Given the description of an element on the screen output the (x, y) to click on. 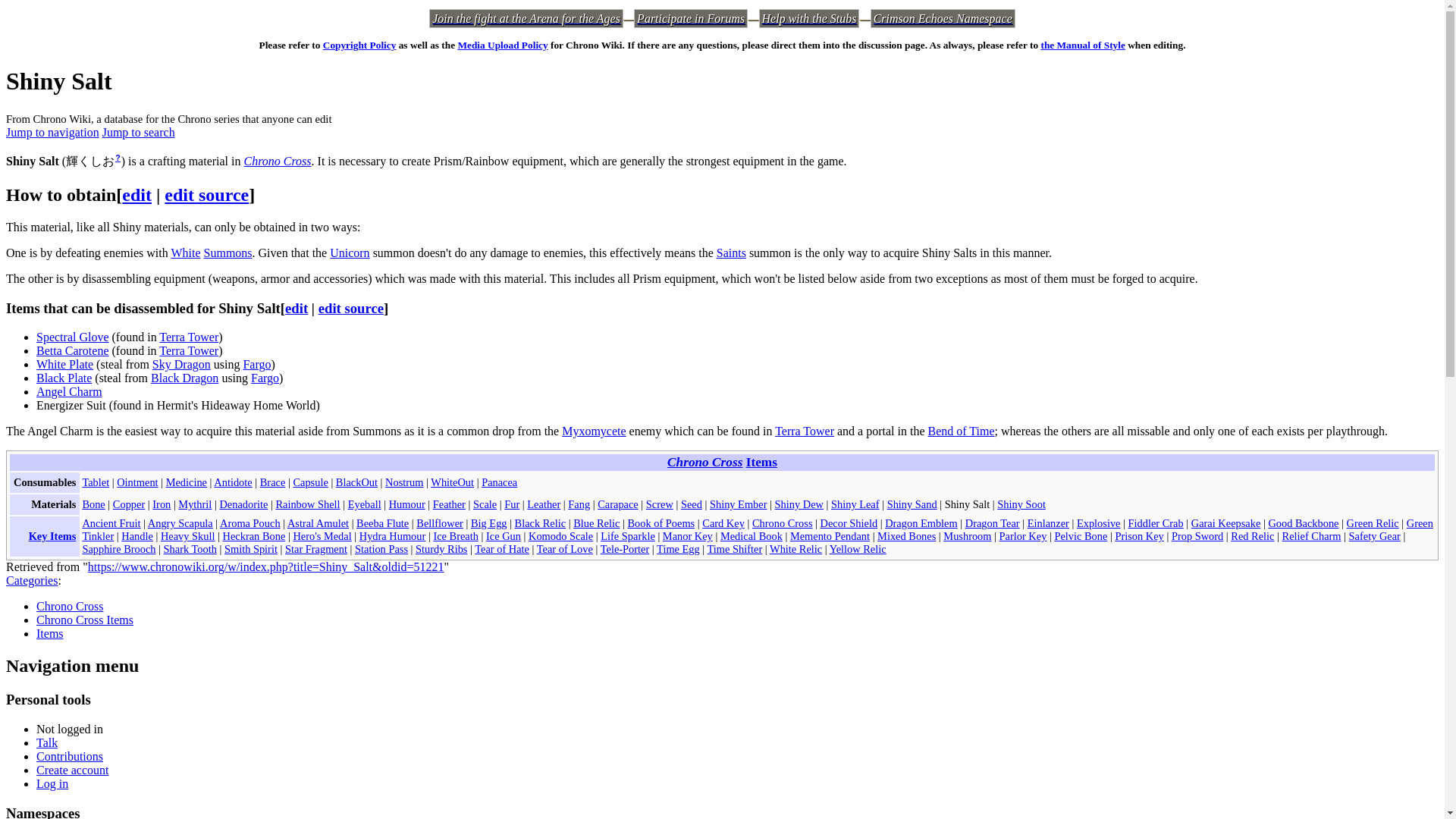
White (185, 252)
Edit section's source code: How to obtain (206, 194)
edit source (206, 194)
Saints (730, 252)
Black Dragon (184, 377)
Terra Tower (188, 350)
Crimson Echoes:About (942, 18)
Jump to search (137, 132)
Unicorn (349, 252)
Jump to navigation (52, 132)
Crimson Echoes Namespace (942, 18)
Chrono Cross (277, 160)
Edit section: How to obtain (136, 194)
Terra Tower (188, 336)
